Given the description of an element on the screen output the (x, y) to click on. 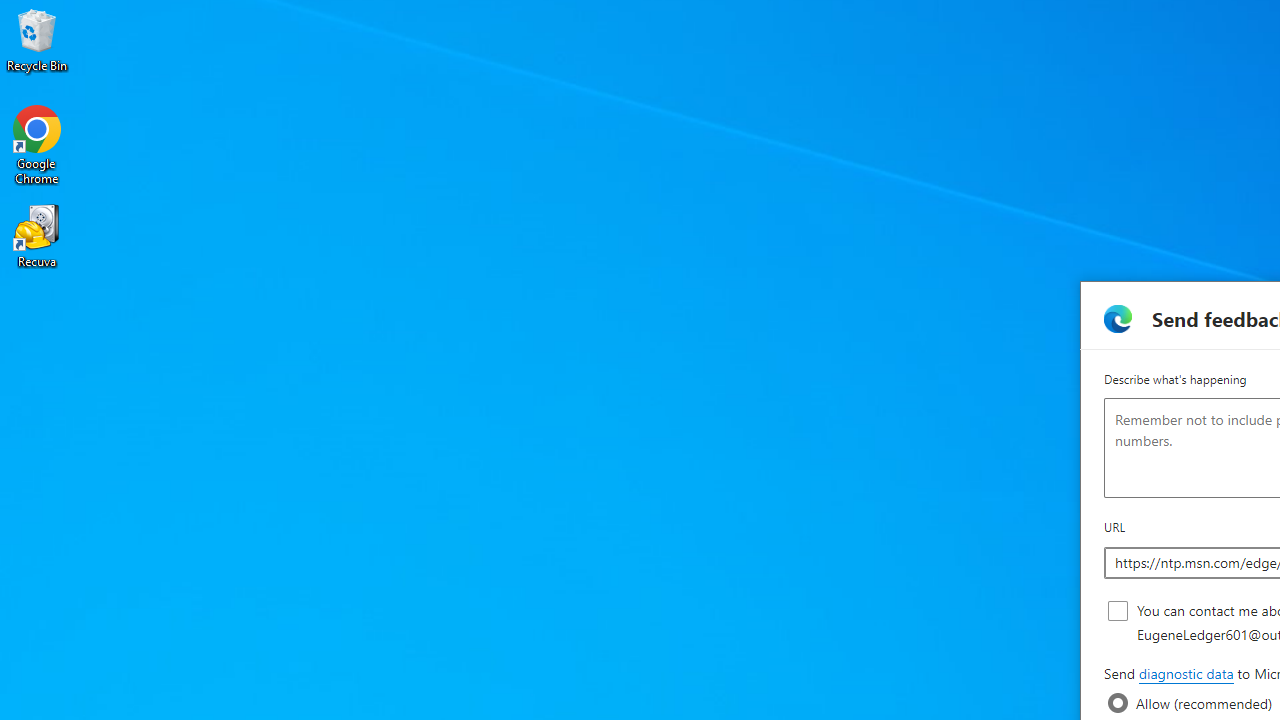
diagnostic data (1185, 673)
Allow (recommended) (1117, 703)
